Given the description of an element on the screen output the (x, y) to click on. 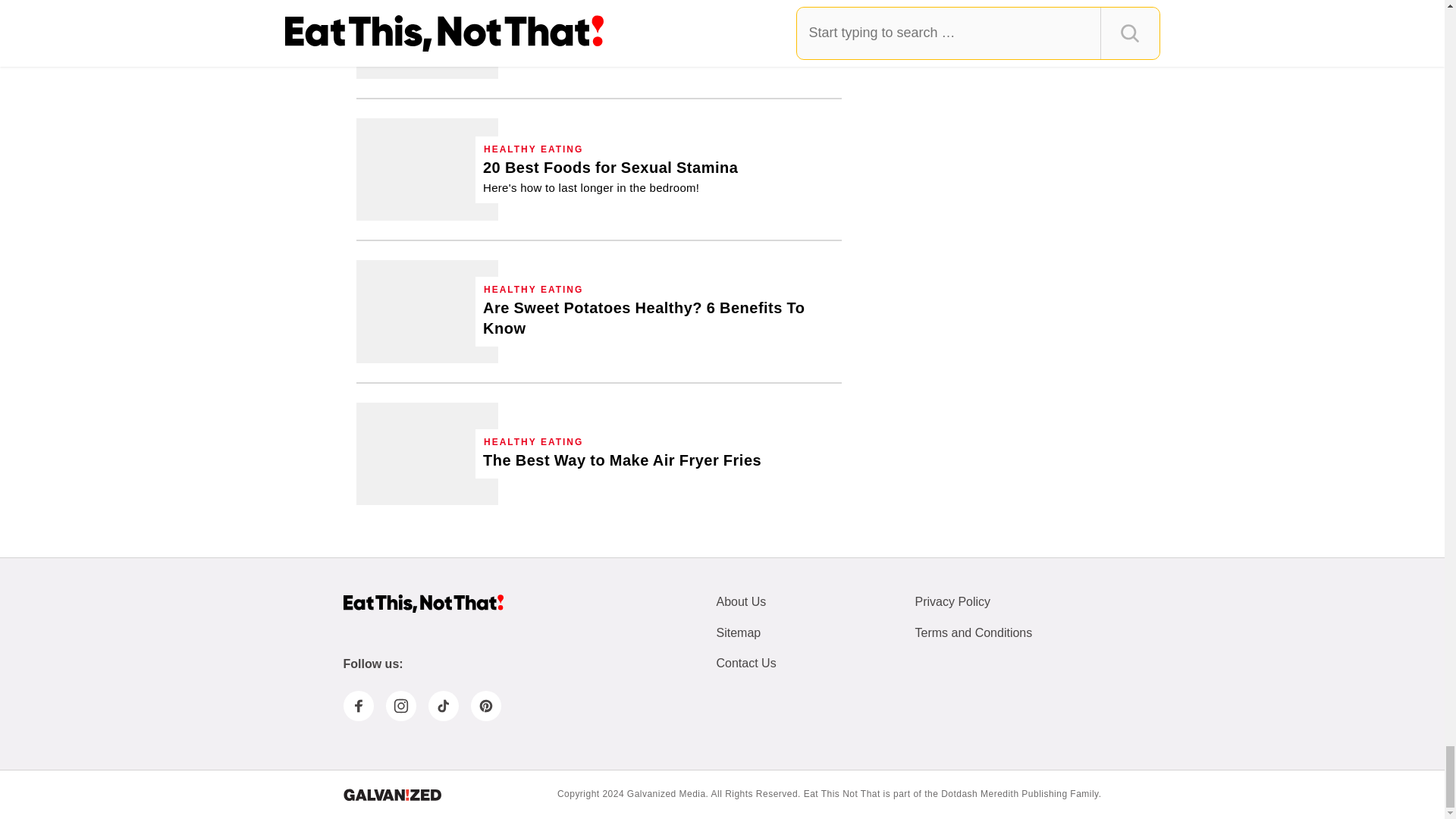
15 Best High-Protein, High-Fiber Recipes To Keep You Full (426, 39)
The Best Way to Make Air Fryer Fries (426, 453)
Are Sweet Potatoes Healthy? 6 Benefits To Know (658, 318)
20 Foods That Increase Your Sexual Stamina and Sex Drive (426, 168)
20 Foods That Increase Your Sexual Stamina and Sex Drive (610, 176)
Are Sweet Potatoes Healthy? 6 Benefits To Know (426, 311)
15 Best High-Protein, High-Fiber Recipes To Keep You Full (637, 34)
